Given the description of an element on the screen output the (x, y) to click on. 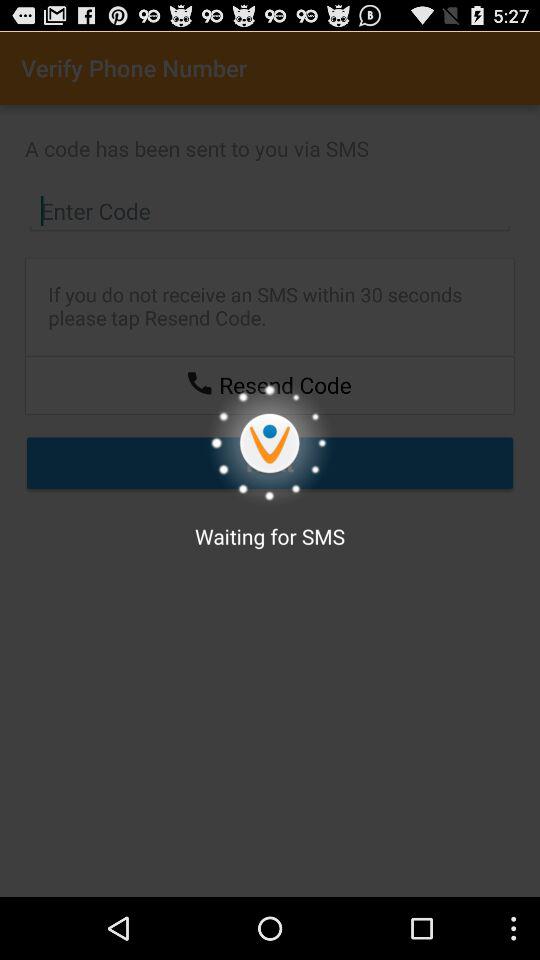
request code resend (199, 381)
